Given the description of an element on the screen output the (x, y) to click on. 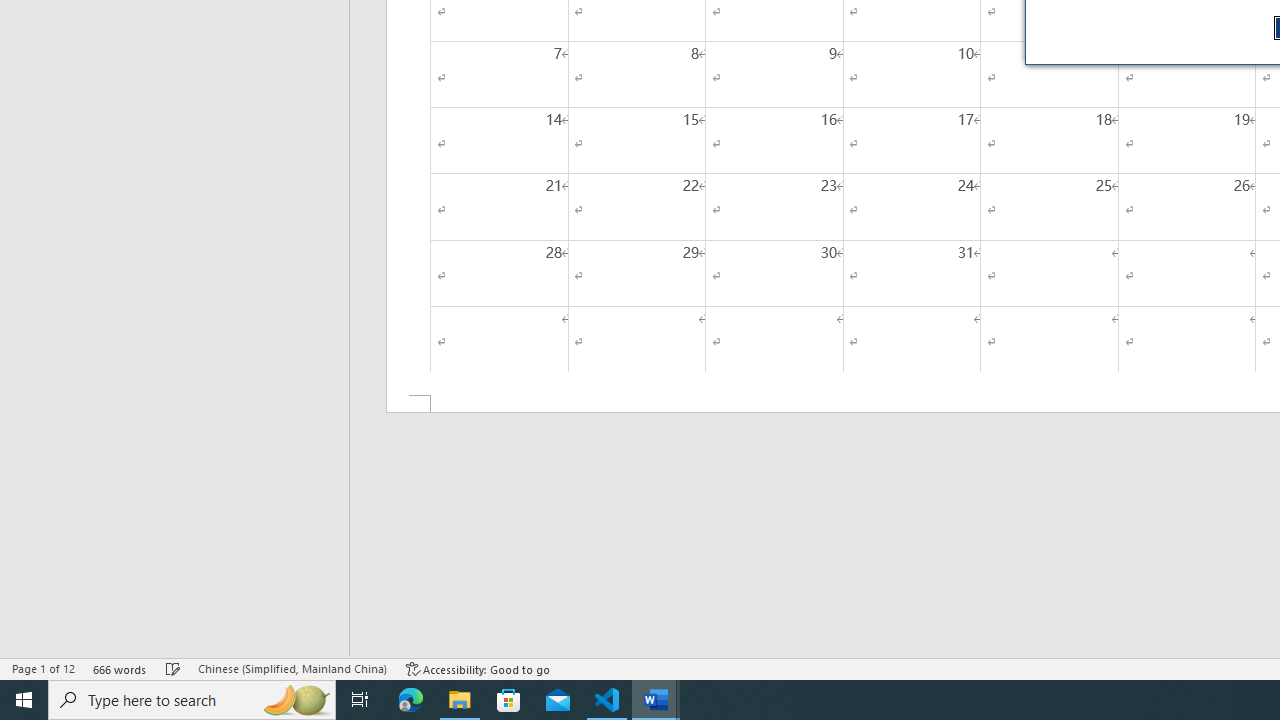
Word Count 666 words (119, 668)
